Given the description of an element on the screen output the (x, y) to click on. 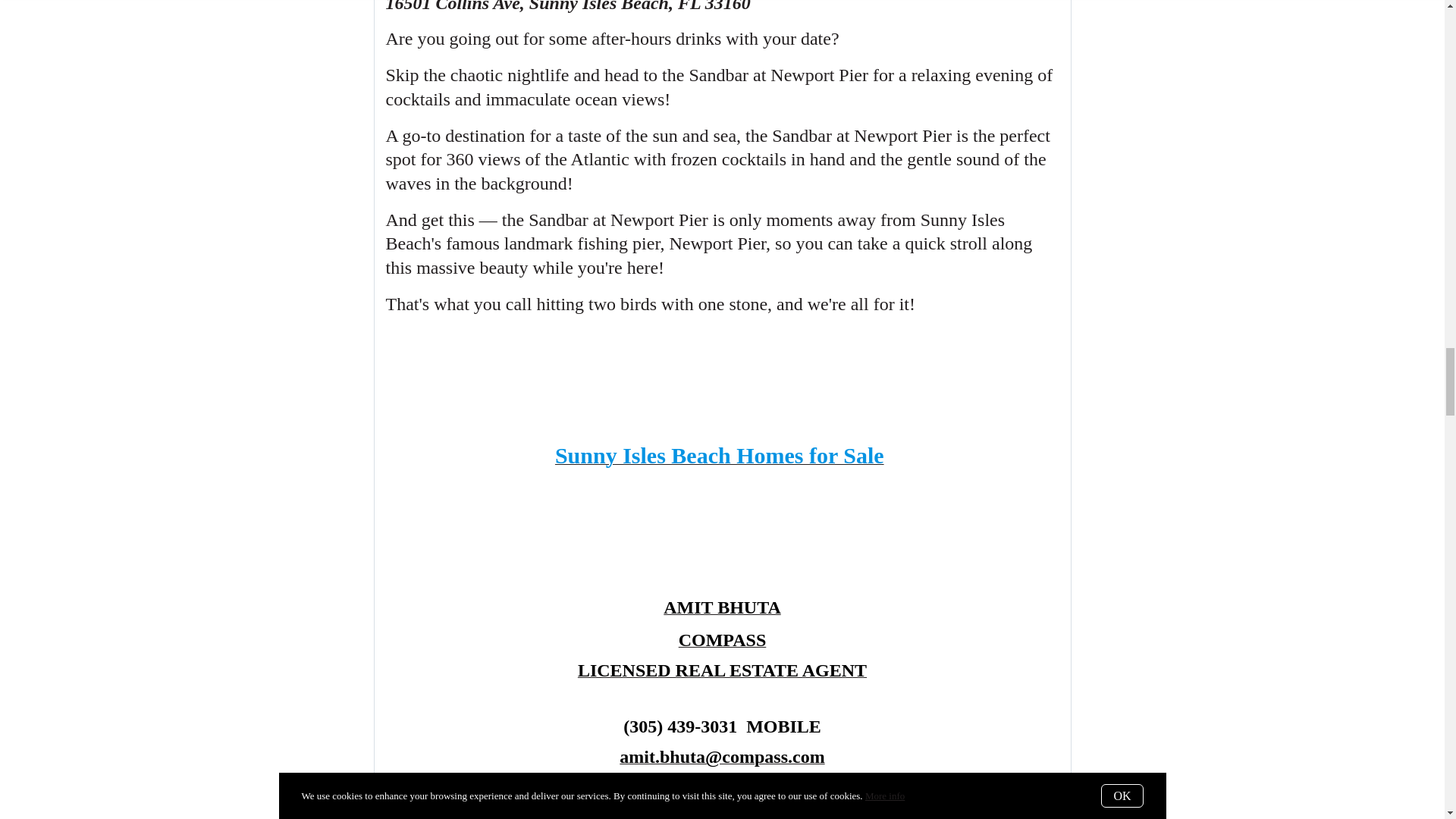
LICENSED REAL ESTATE AGENT (722, 671)
AMIT BHUTA (721, 608)
Sunny Isles Beach Homes for Sale (718, 459)
COMPASS (722, 641)
